Given the description of an element on the screen output the (x, y) to click on. 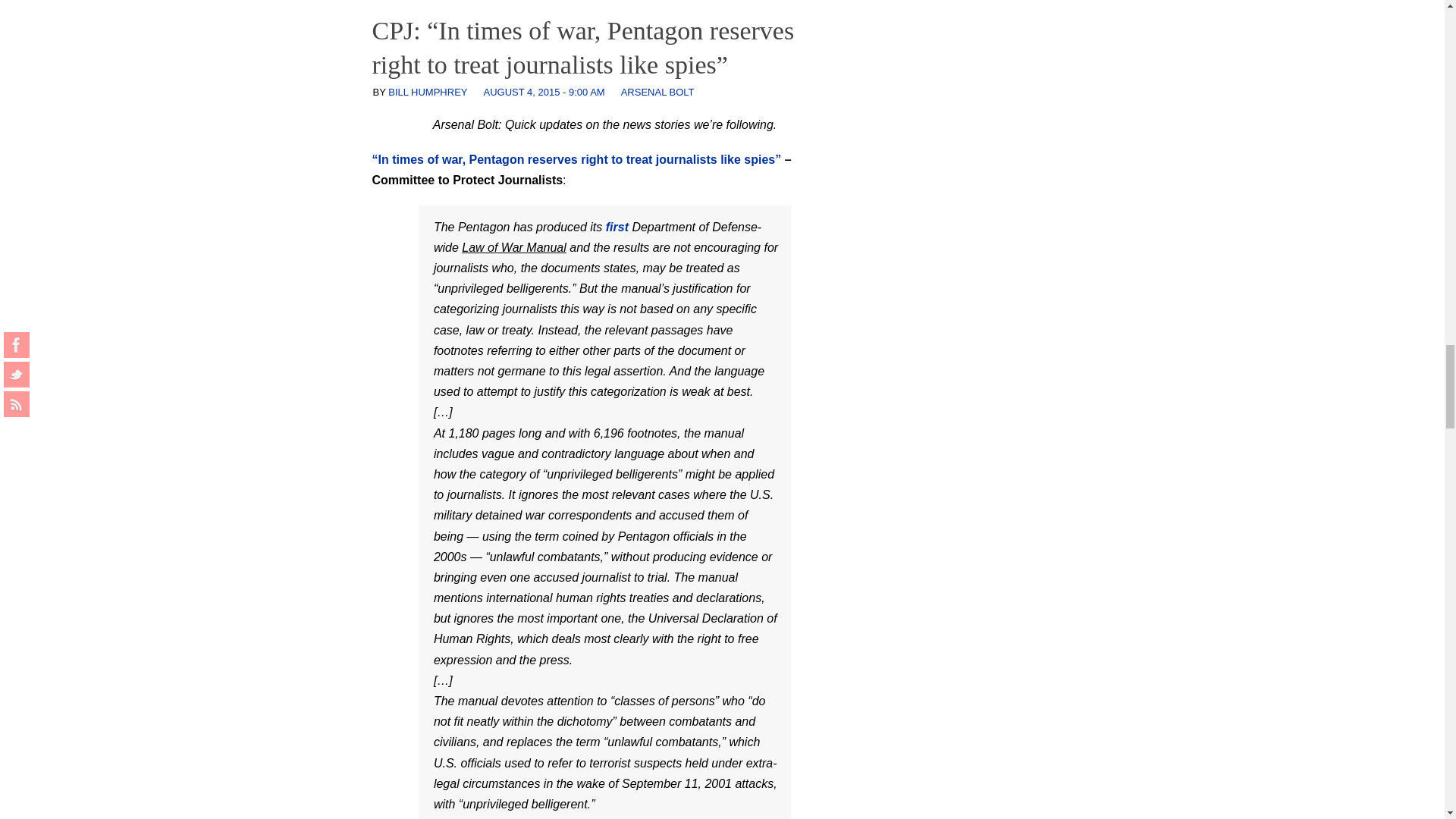
View all posts by Bill Humphrey (427, 91)
